Given the description of an element on the screen output the (x, y) to click on. 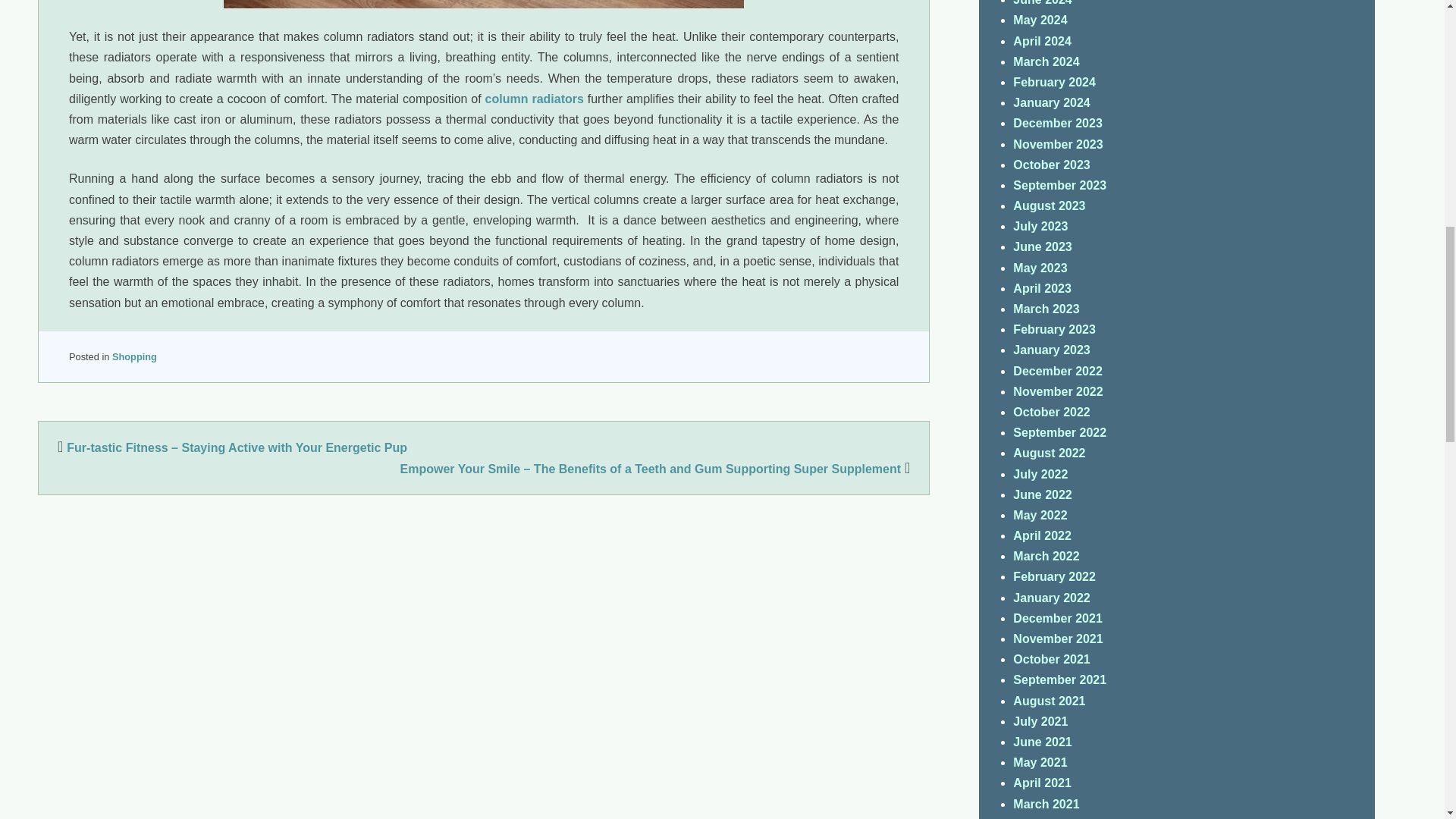
June 2024 (1042, 2)
November 2022 (1057, 391)
August 2023 (1048, 205)
February 2024 (1054, 82)
December 2022 (1057, 370)
July 2023 (1040, 226)
February 2023 (1054, 328)
May 2023 (1040, 267)
March 2023 (1045, 308)
January 2023 (1051, 349)
